Given the description of an element on the screen output the (x, y) to click on. 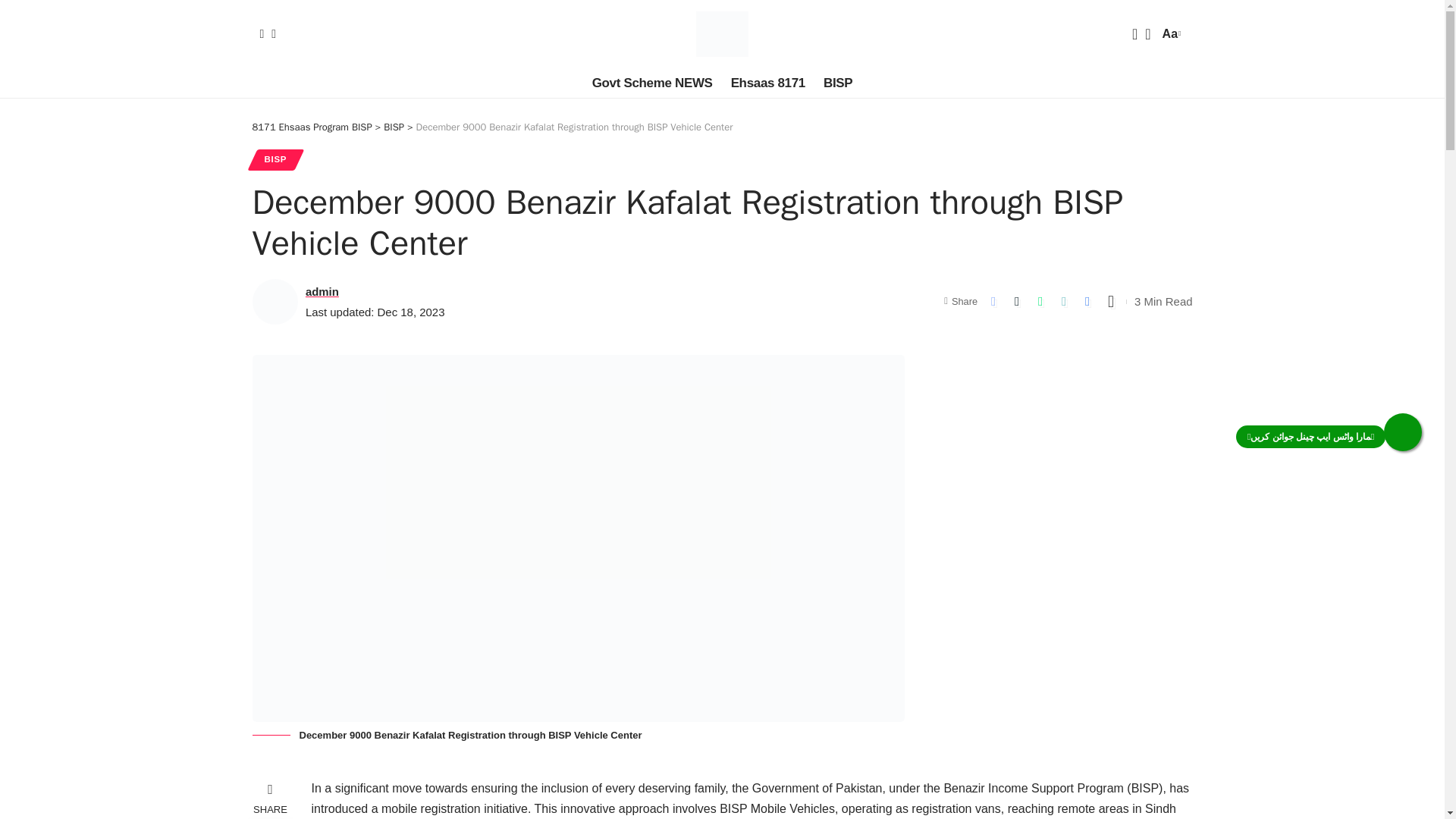
admin (322, 291)
Ehsaas 8171 (767, 82)
BISP (394, 126)
BISP (837, 82)
Govt Scheme NEWS (1169, 33)
8171 Ehsaas Program BISP (652, 82)
Go to 8171 Ehsaas Program BISP. (721, 33)
BISP (311, 126)
Go to the BISP Category archives. (274, 159)
8171 Ehsaas Program BISP (394, 126)
